Given the description of an element on the screen output the (x, y) to click on. 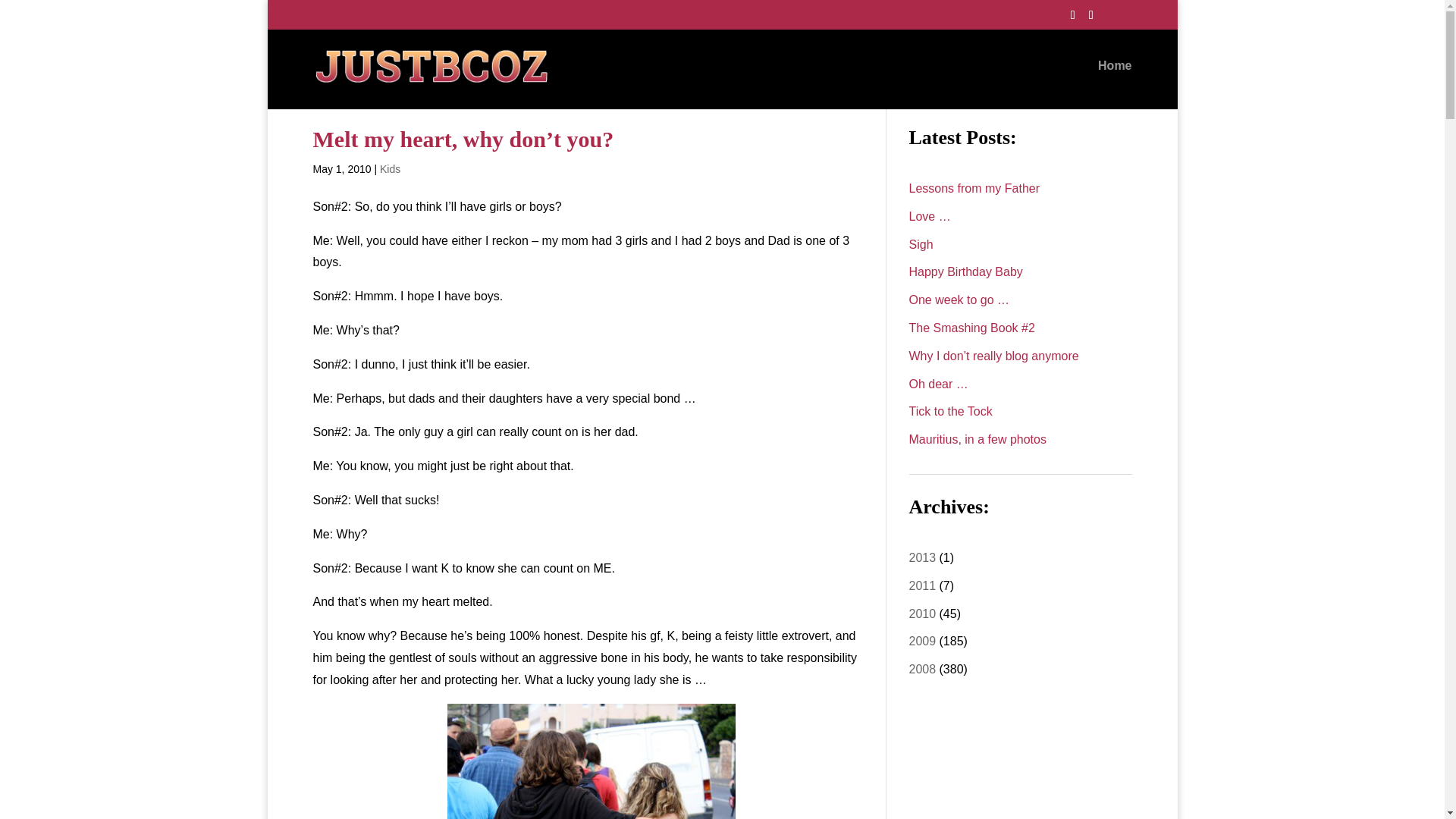
Happy Birthday Baby (965, 271)
Kids (390, 168)
2011 (922, 585)
Mauritius, in a few photos (976, 439)
son2andgf (590, 761)
Lessons from my Father (973, 187)
2013 (922, 557)
2009 (922, 640)
Tick to the Tock (949, 410)
Sigh (920, 244)
